Given the description of an element on the screen output the (x, y) to click on. 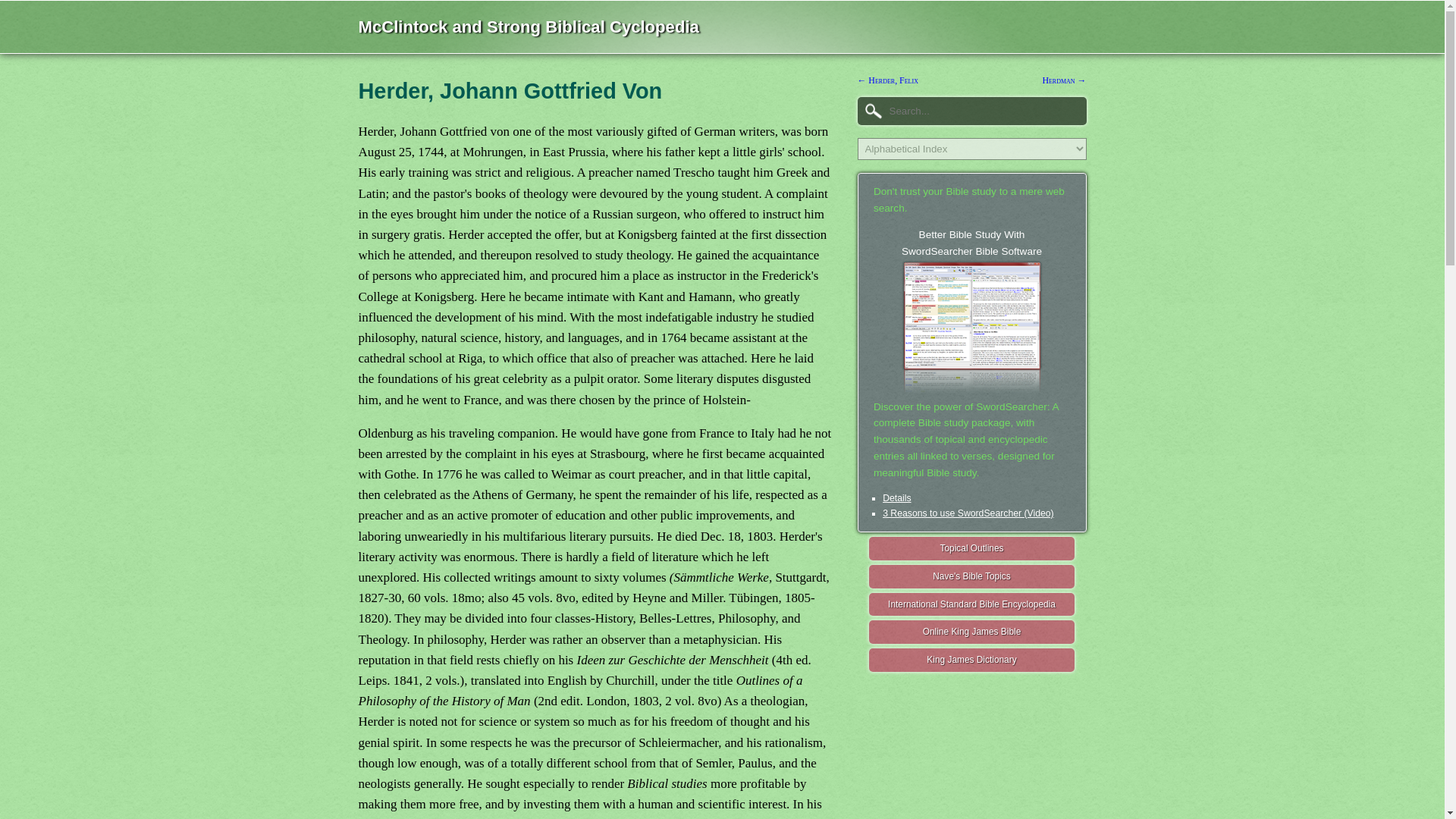
King James Dictionary (972, 659)
International Standard Bible Encyclopedia (972, 604)
McClintock and Strong Biblical Cyclopedia (528, 26)
Nave's Bible Topics (972, 576)
Online King James Bible (972, 631)
Topical Outlines (971, 306)
Details (972, 548)
